Given the description of an element on the screen output the (x, y) to click on. 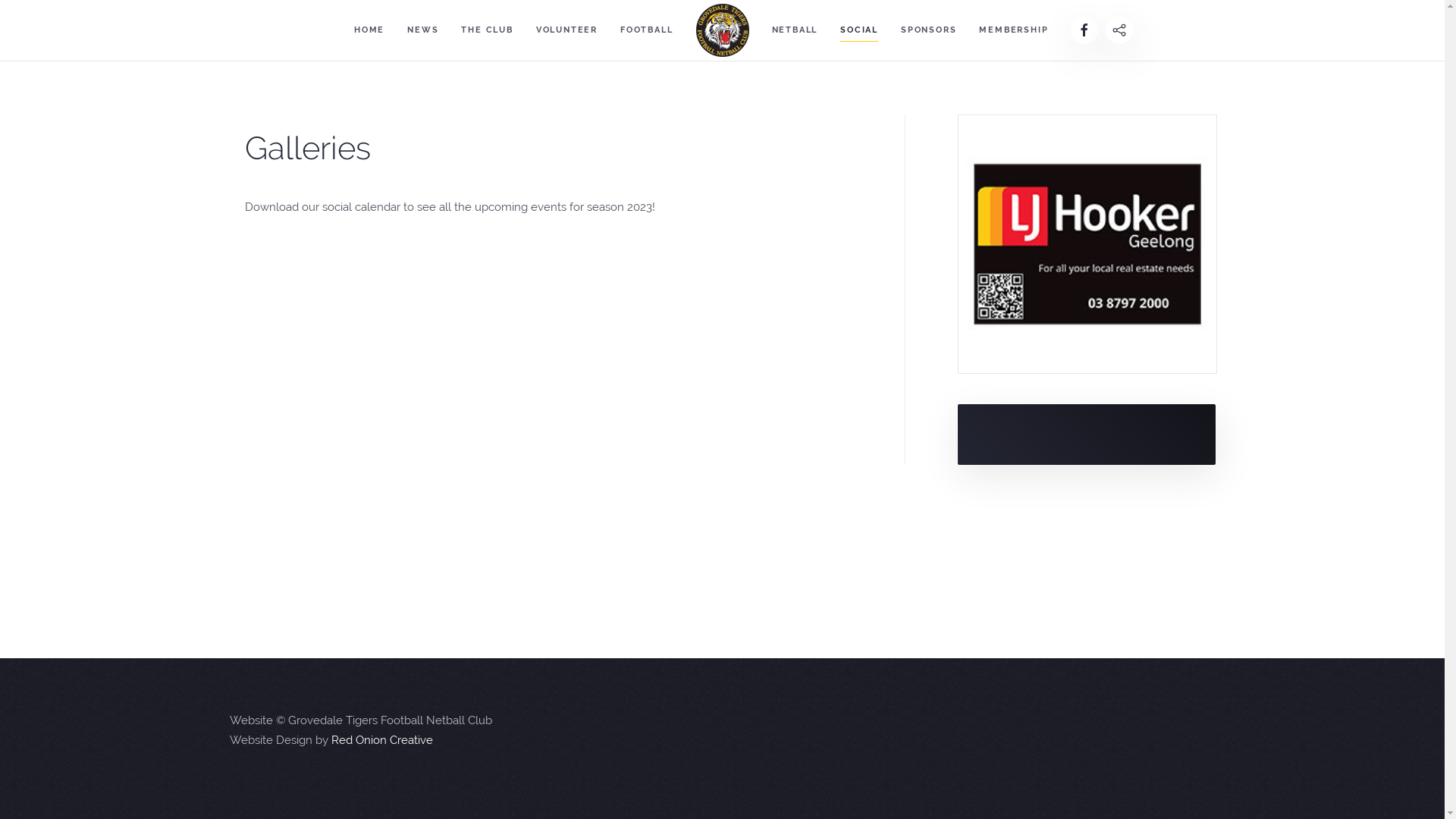
HOME Element type: text (368, 30)
NEWS Element type: text (422, 30)
VOLUNTEER Element type: text (566, 30)
SPONSORS Element type: text (928, 30)
THE CLUB Element type: text (486, 30)
Red Onion Creative Element type: text (381, 739)
FOOTBALL Element type: text (646, 30)
MEMBERSHIP Element type: text (1013, 30)
SOCIAL Element type: text (858, 30)
NETBALL Element type: text (793, 30)
